Given the description of an element on the screen output the (x, y) to click on. 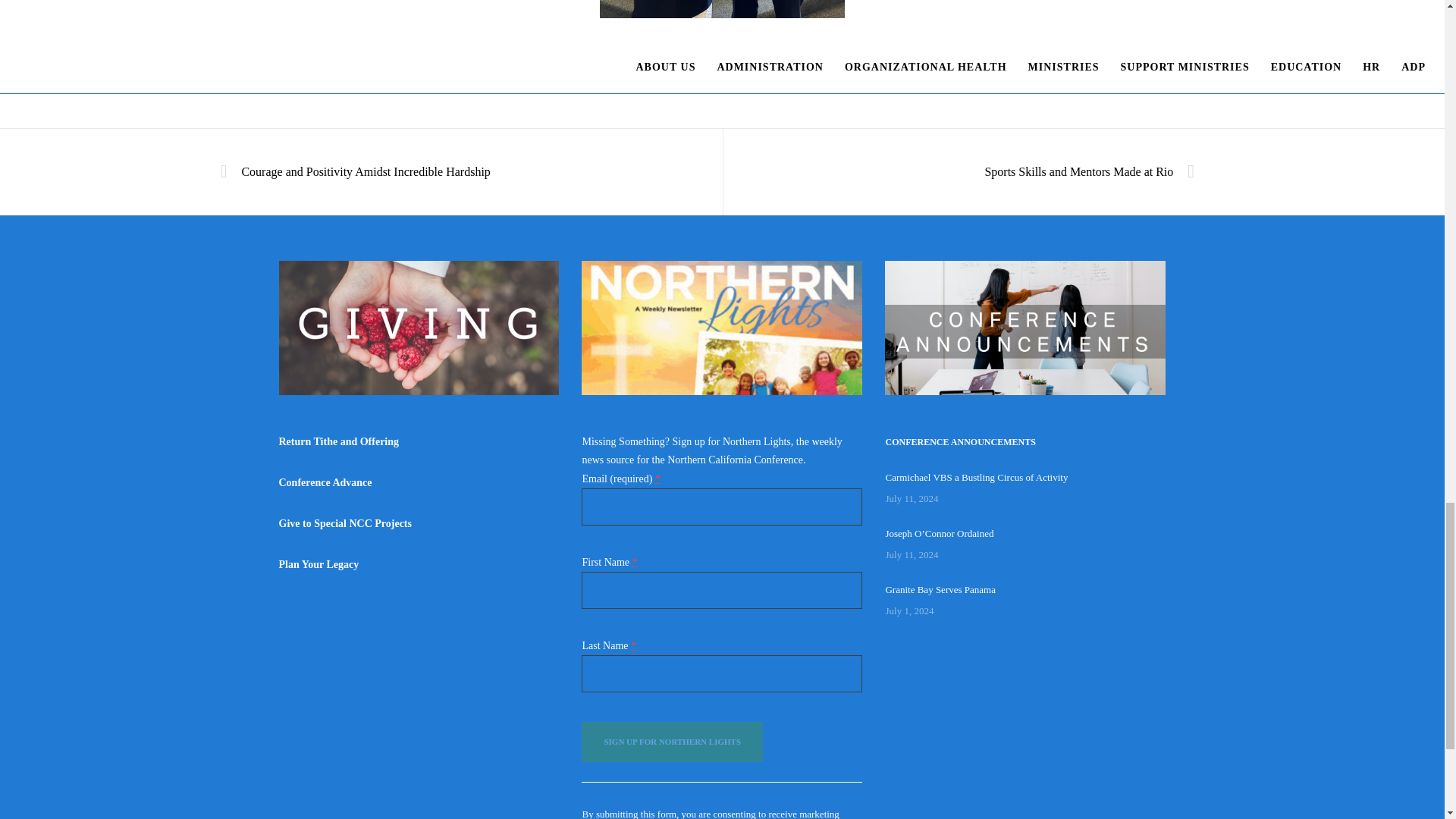
required (633, 645)
required (634, 562)
Sign up for Northern Lights (671, 741)
required (658, 478)
